Given the description of an element on the screen output the (x, y) to click on. 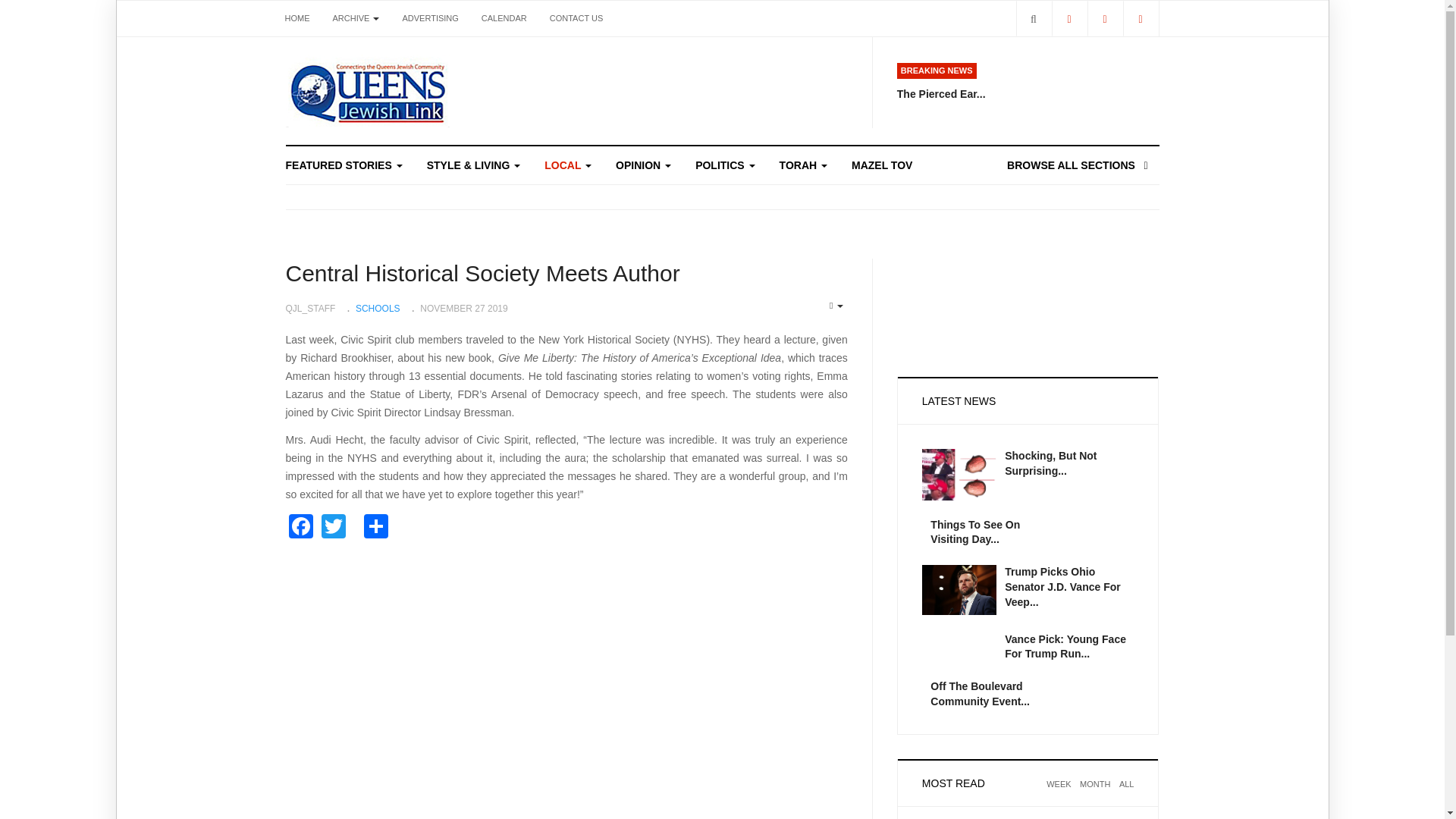
Instagram (1139, 18)
Written by  (309, 308)
Published:  (458, 307)
Category:  (372, 307)
ARCHIVE (356, 18)
Twitter (1104, 18)
HOME (296, 18)
Queens Jewish Link (366, 90)
Week (1058, 793)
Month (1094, 793)
Facebook (1068, 18)
Central Historical Society  Meets Author (482, 273)
ADVERTISING (429, 18)
